Given the description of an element on the screen output the (x, y) to click on. 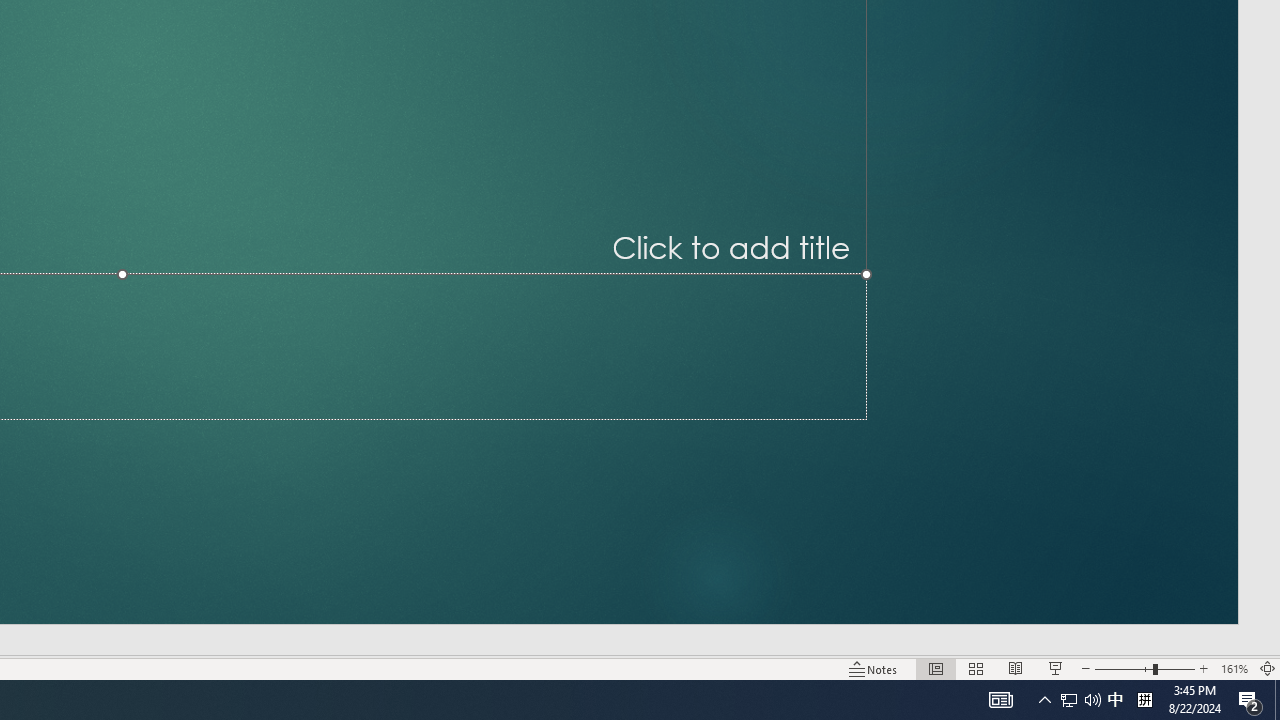
Zoom Out (1123, 668)
Normal (936, 668)
Zoom to Fit  (1267, 668)
Reading View (1015, 668)
Slide Sorter (975, 668)
Notes  (874, 668)
Zoom (1144, 668)
Zoom In (1204, 668)
Slide Show (1055, 668)
Zoom 161% (1234, 668)
